Given the description of an element on the screen output the (x, y) to click on. 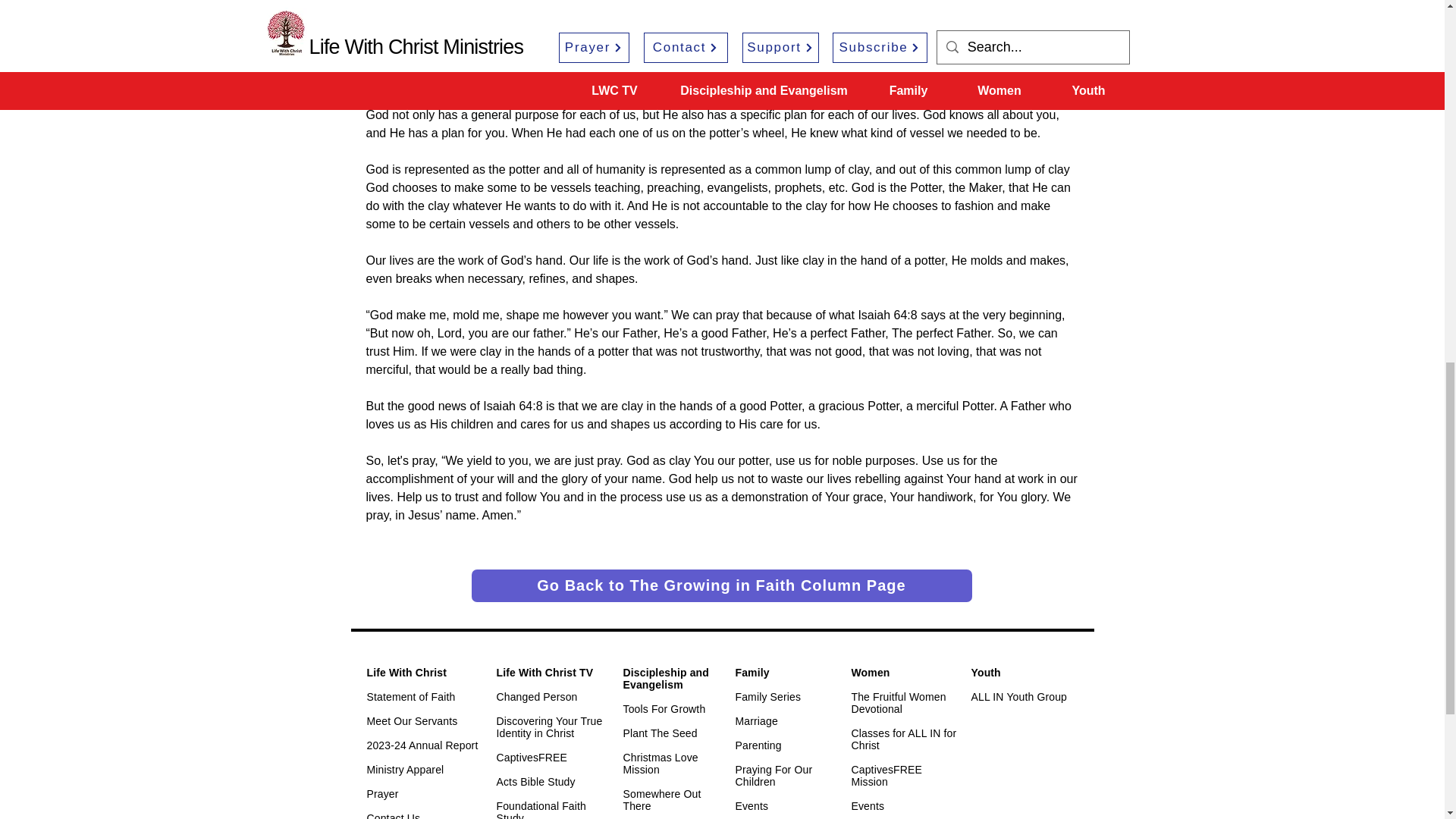
Statement of Faith (410, 696)
Classes for ALL IN for Christ (903, 739)
Tools For Growth (664, 708)
Meet Our Servants (412, 720)
Somewhere Out There (662, 799)
Ministry Apparel (405, 769)
Life With Christ (406, 672)
Christmas Love Mission (666, 678)
Parenting (660, 763)
